Given the description of an element on the screen output the (x, y) to click on. 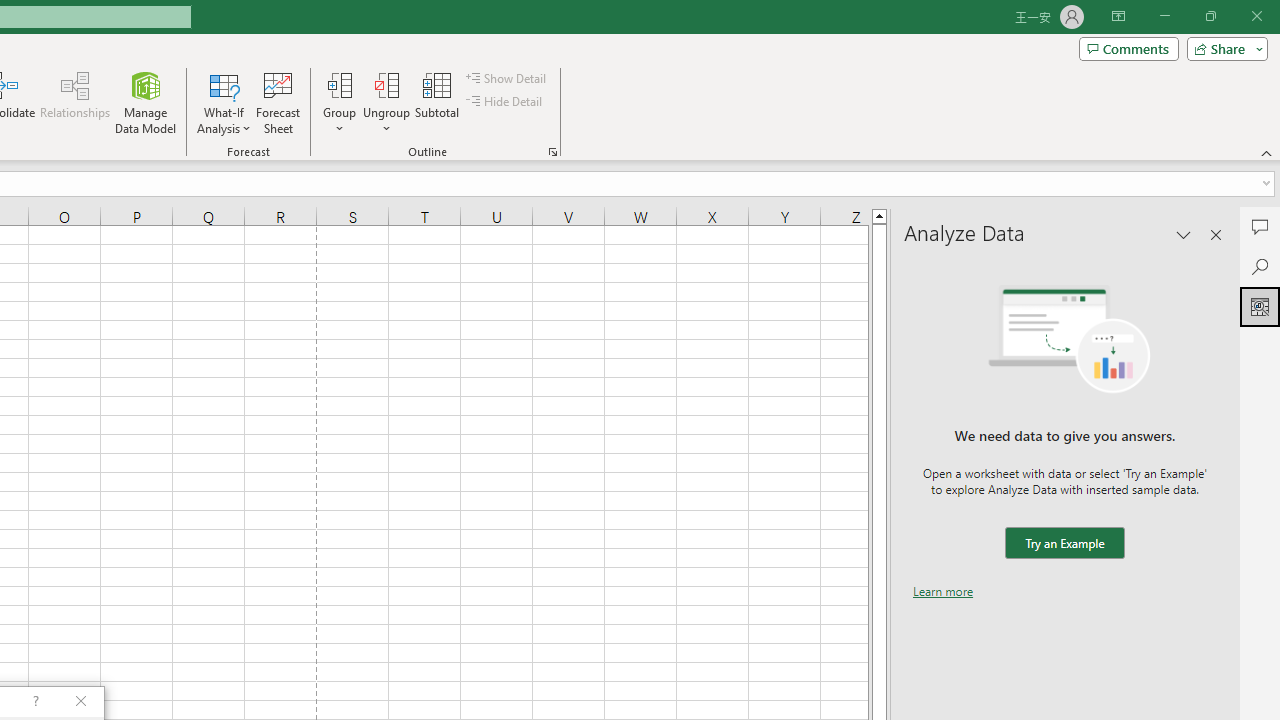
Group... (339, 84)
Share (1223, 48)
Ungroup... (386, 84)
Analyze Data (1260, 306)
Ungroup... (386, 102)
Restore Down (1210, 16)
Manage Data Model (145, 102)
Search (1260, 266)
Forecast Sheet (278, 102)
Task Pane Options (1183, 234)
We need data to give you answers. Try an Example (1064, 543)
Show Detail (507, 78)
Comments (1260, 226)
